Given the description of an element on the screen output the (x, y) to click on. 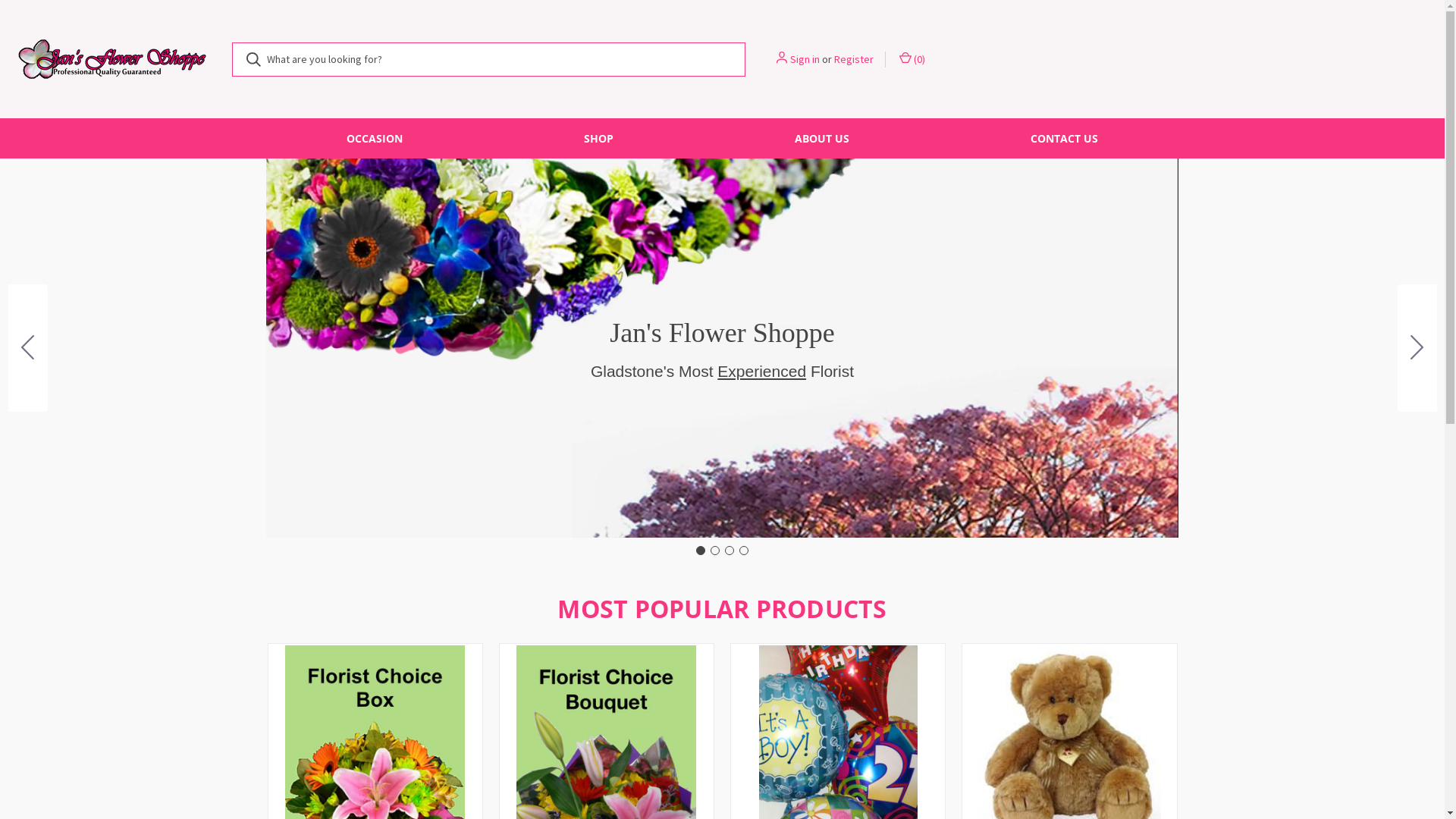
(0) Element type: text (911, 59)
ABOUT US Element type: text (821, 138)
SHOP Element type: text (597, 138)
Jan's Flower Shoppe Element type: hover (112, 58)
CONTACT US Element type: text (1064, 138)
OCCASION Element type: text (374, 138)
Register Element type: text (853, 59)
Sign in Element type: text (804, 59)
